Given the description of an element on the screen output the (x, y) to click on. 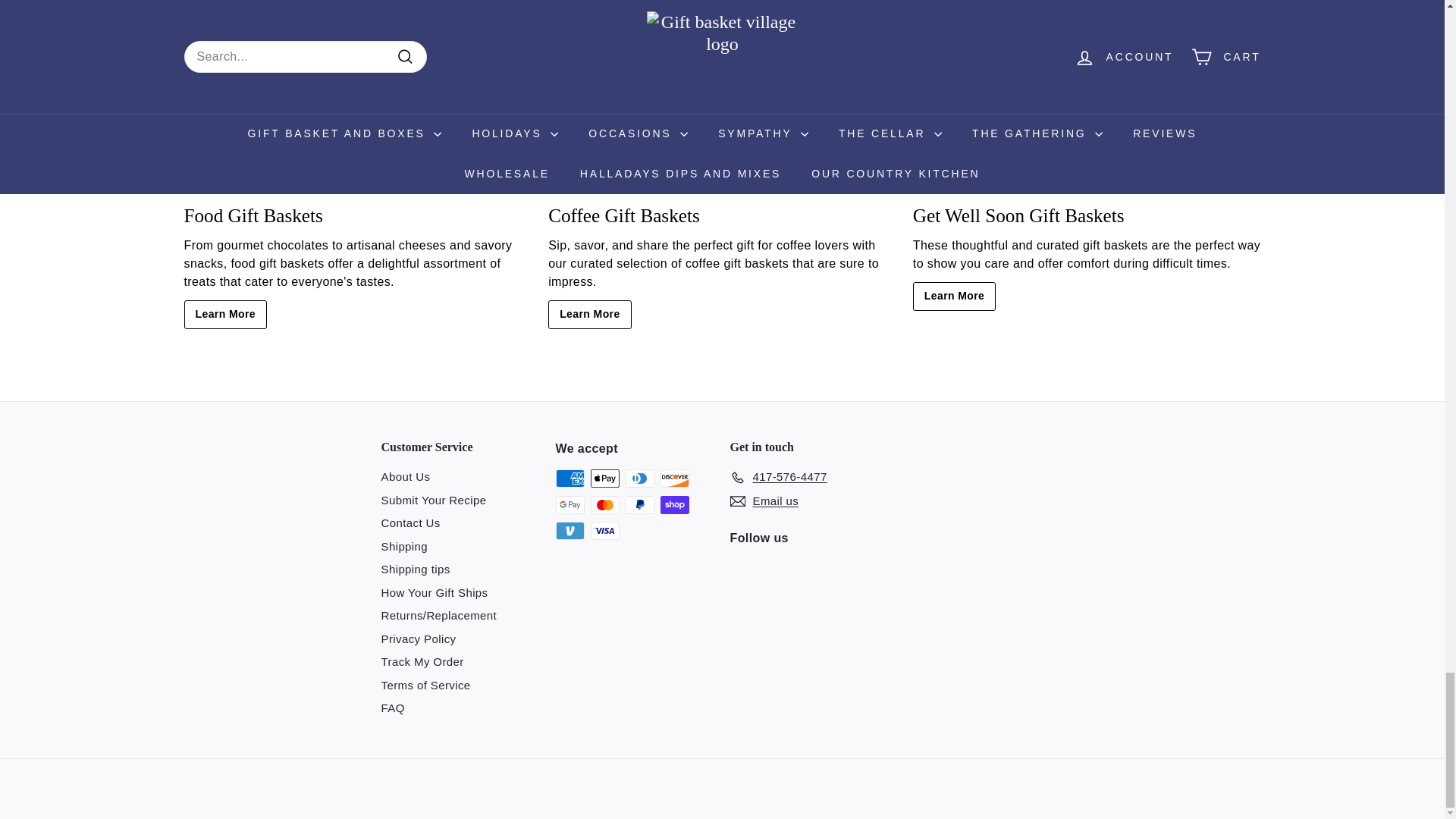
Discover (673, 478)
Mastercard (603, 505)
Diners Club (638, 478)
Google Pay (568, 505)
Apple Pay (603, 478)
American Express (568, 478)
PayPal (638, 505)
